Given the description of an element on the screen output the (x, y) to click on. 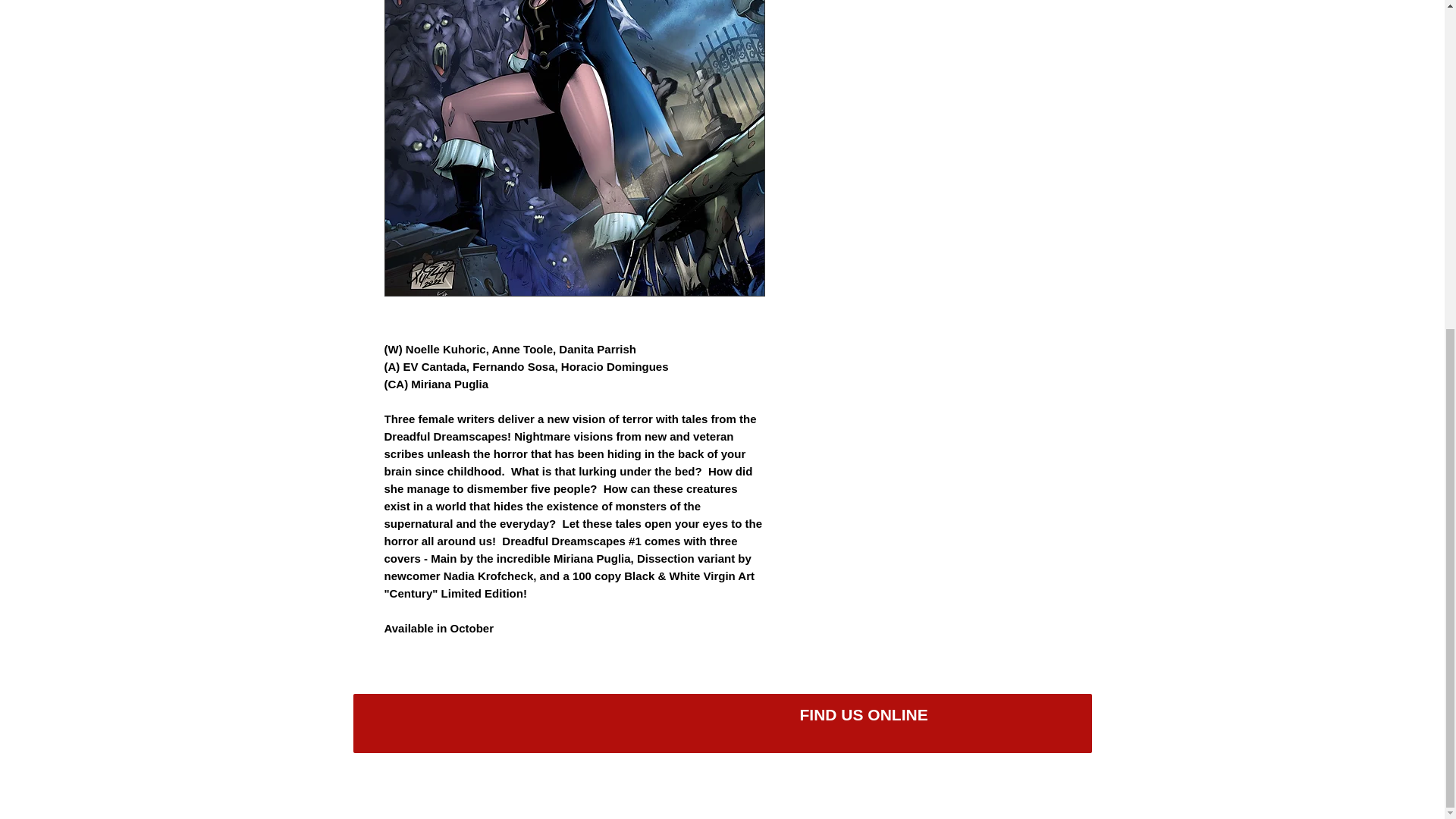
Twitter Follow (446, 715)
Facebook Like (681, 723)
